Given the description of an element on the screen output the (x, y) to click on. 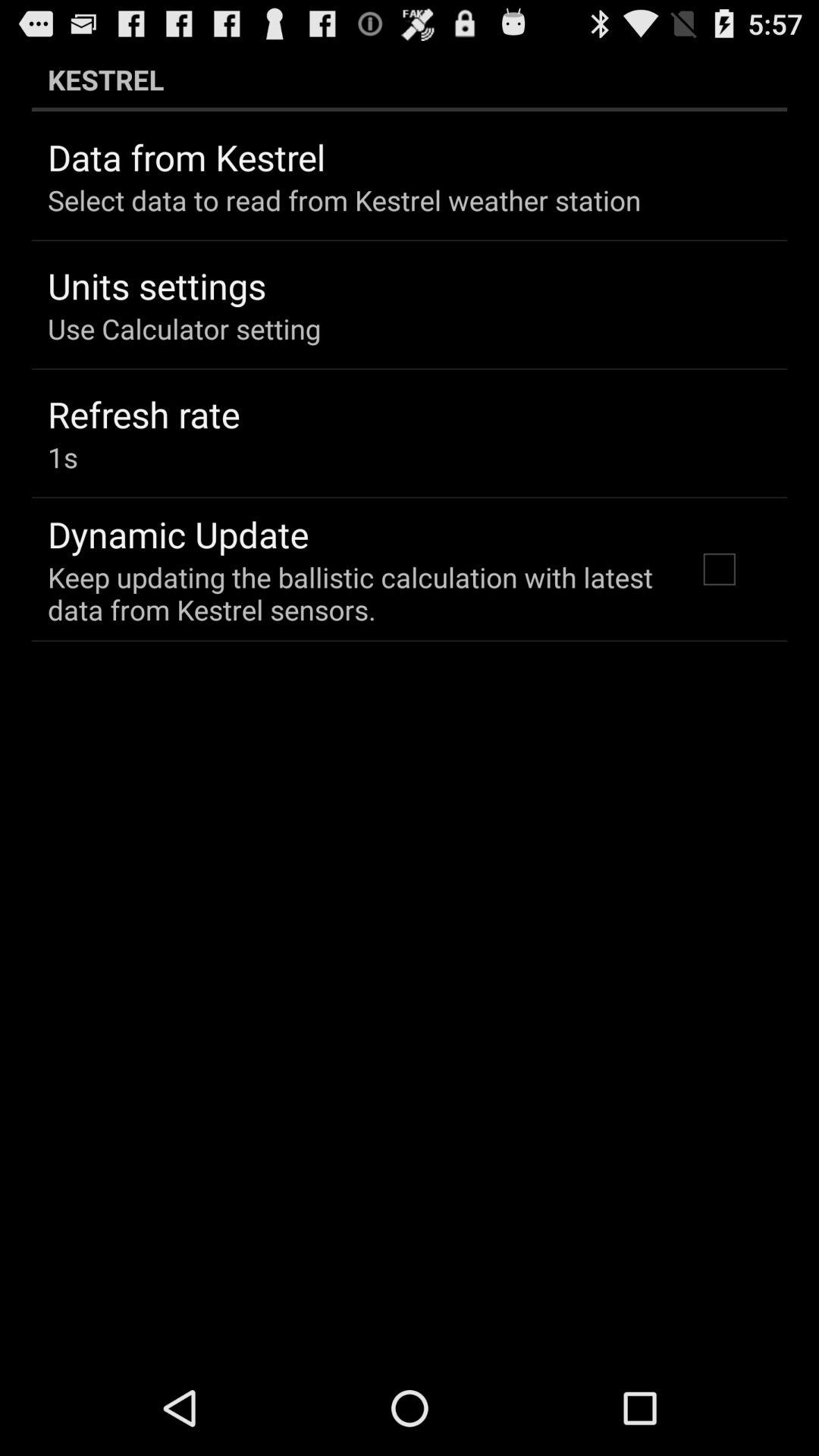
select icon below the kestrel item (719, 569)
